Given the description of an element on the screen output the (x, y) to click on. 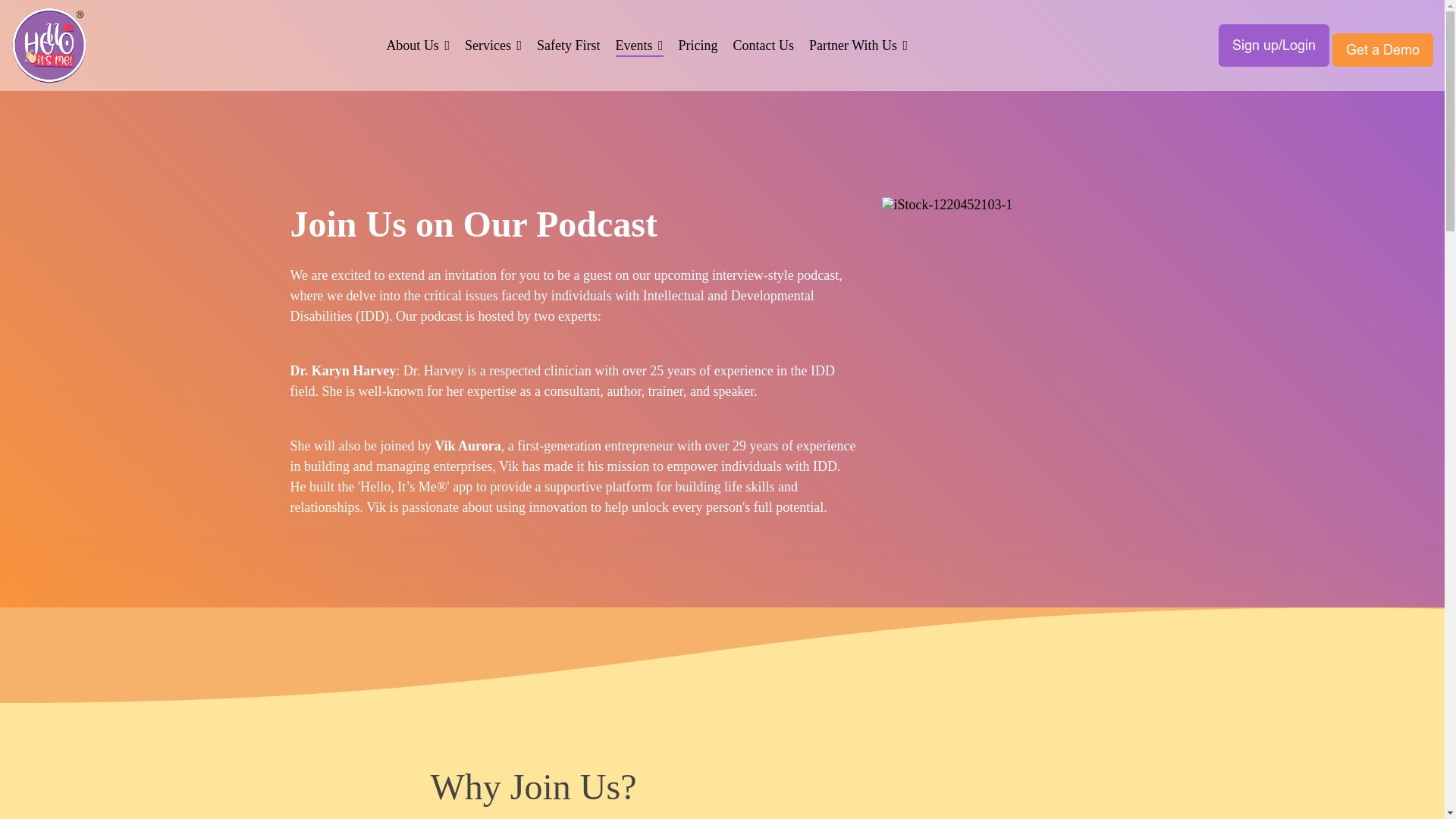
About Us (417, 45)
Pricing (697, 45)
Safety First (568, 45)
Services (492, 45)
Events (639, 45)
Partner With Us (858, 45)
Contact Us (763, 45)
